Given the description of an element on the screen output the (x, y) to click on. 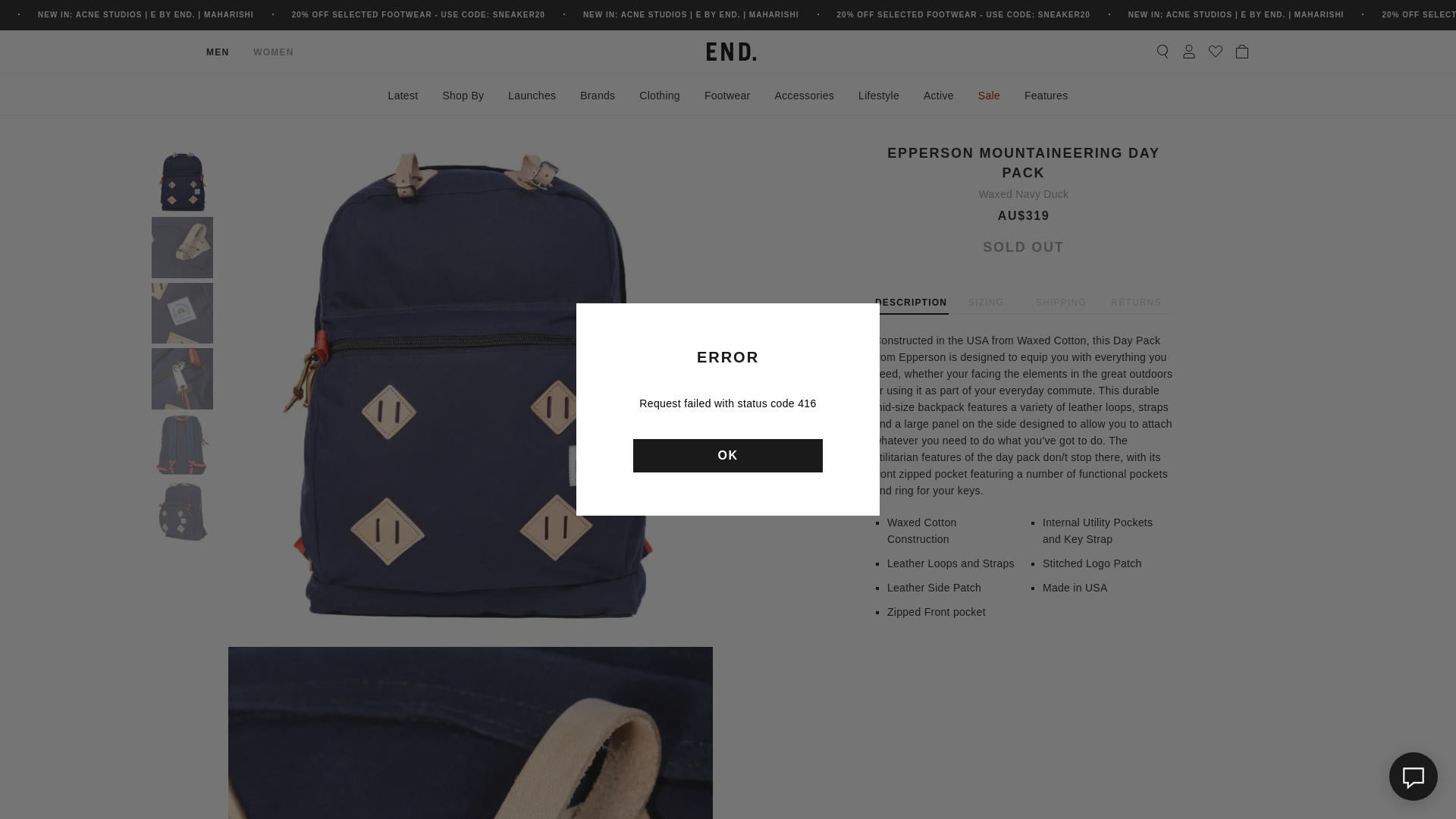
MEN (217, 51)
OK (727, 455)
WOMEN (273, 51)
